Given the description of an element on the screen output the (x, y) to click on. 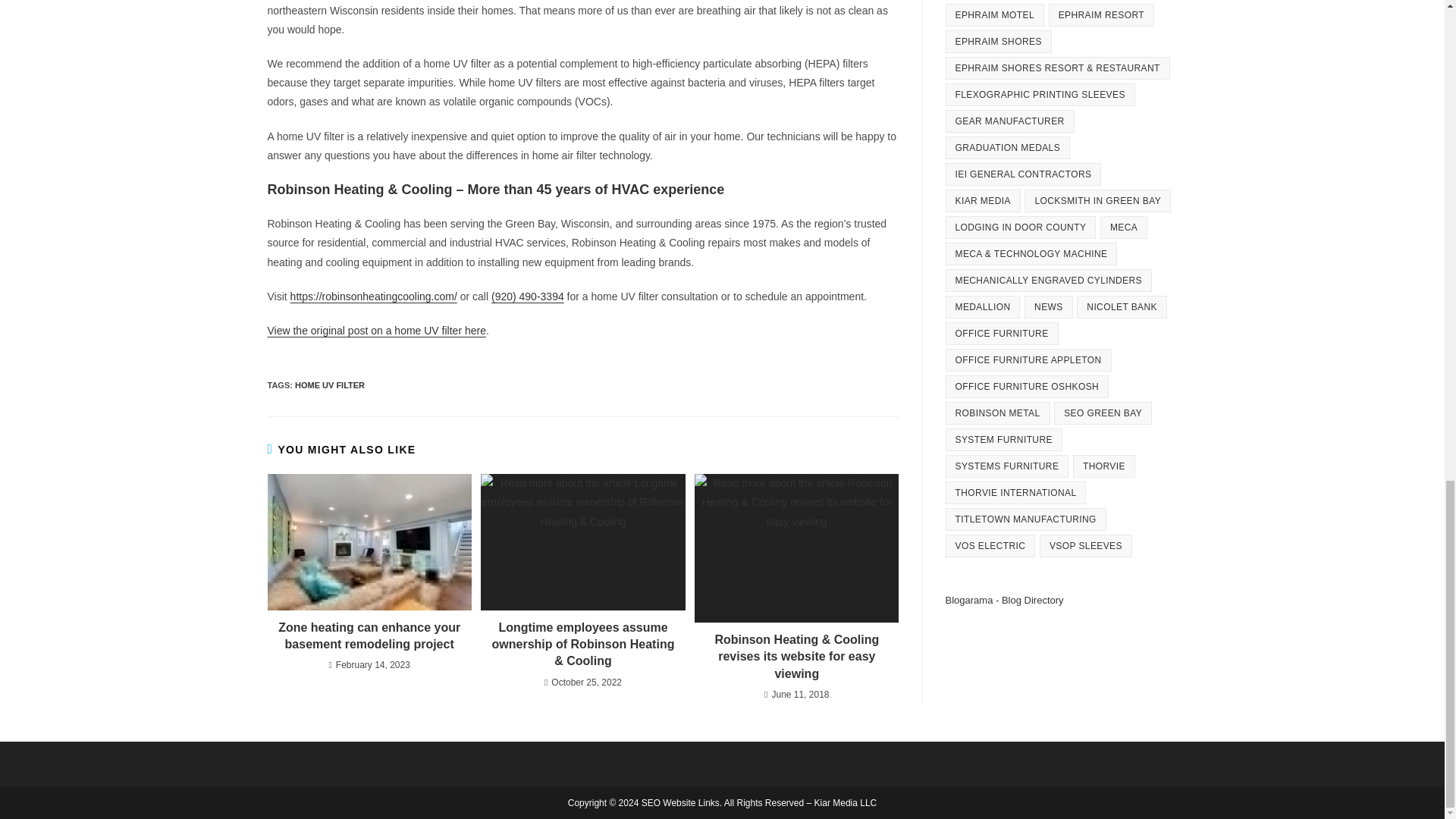
View the original post on a home UV filter here (375, 330)
Blogarama.com - Follow me on Blogarama (1003, 600)
Zone heating can enhance your basement remodeling project (368, 636)
HOME UV FILTER (330, 384)
